Given the description of an element on the screen output the (x, y) to click on. 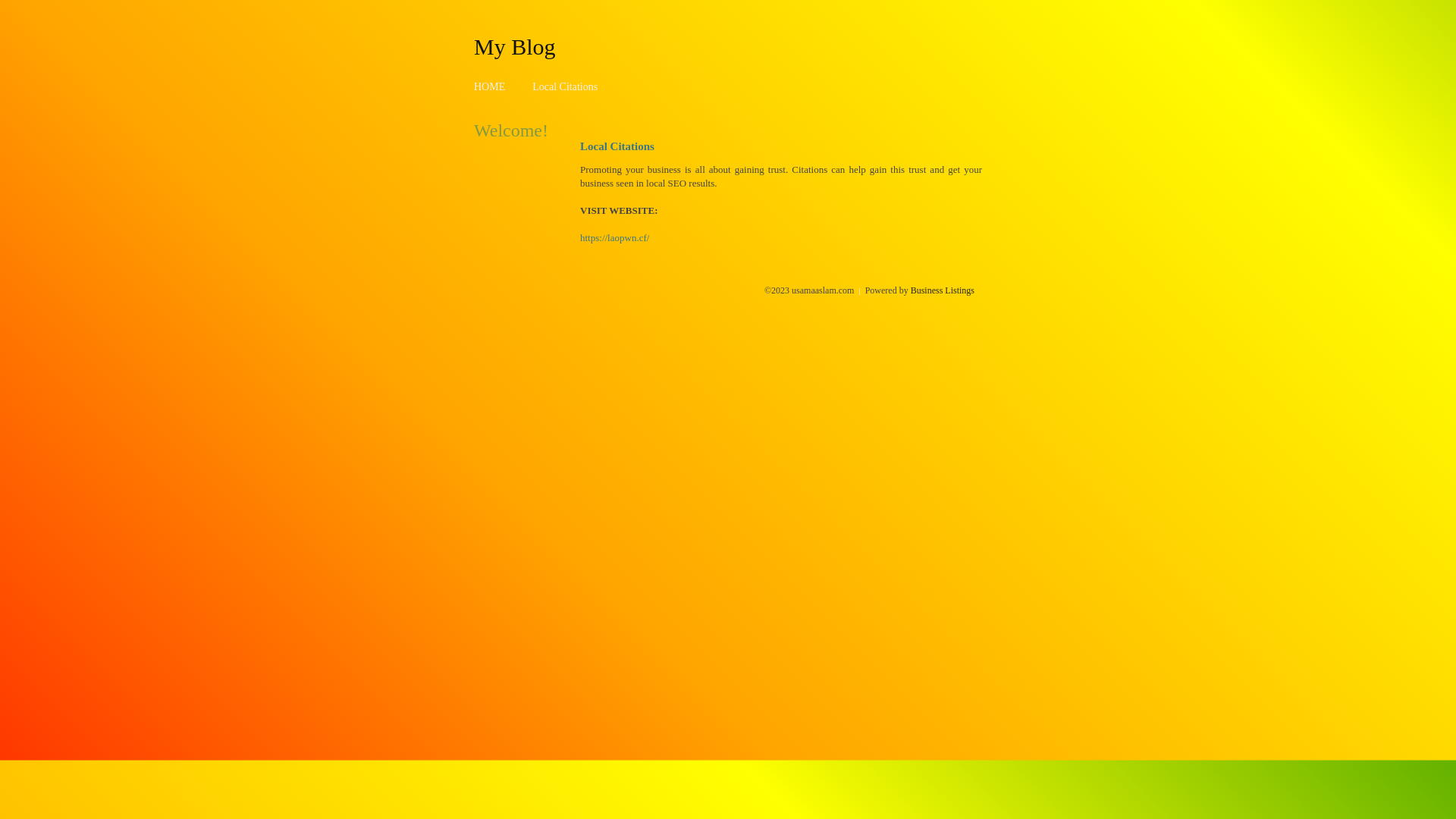
Business Listings Element type: text (942, 290)
https://laopwn.cf/ Element type: text (614, 237)
My Blog Element type: text (514, 46)
Local Citations Element type: text (564, 86)
HOME Element type: text (489, 86)
